Given the description of an element on the screen output the (x, y) to click on. 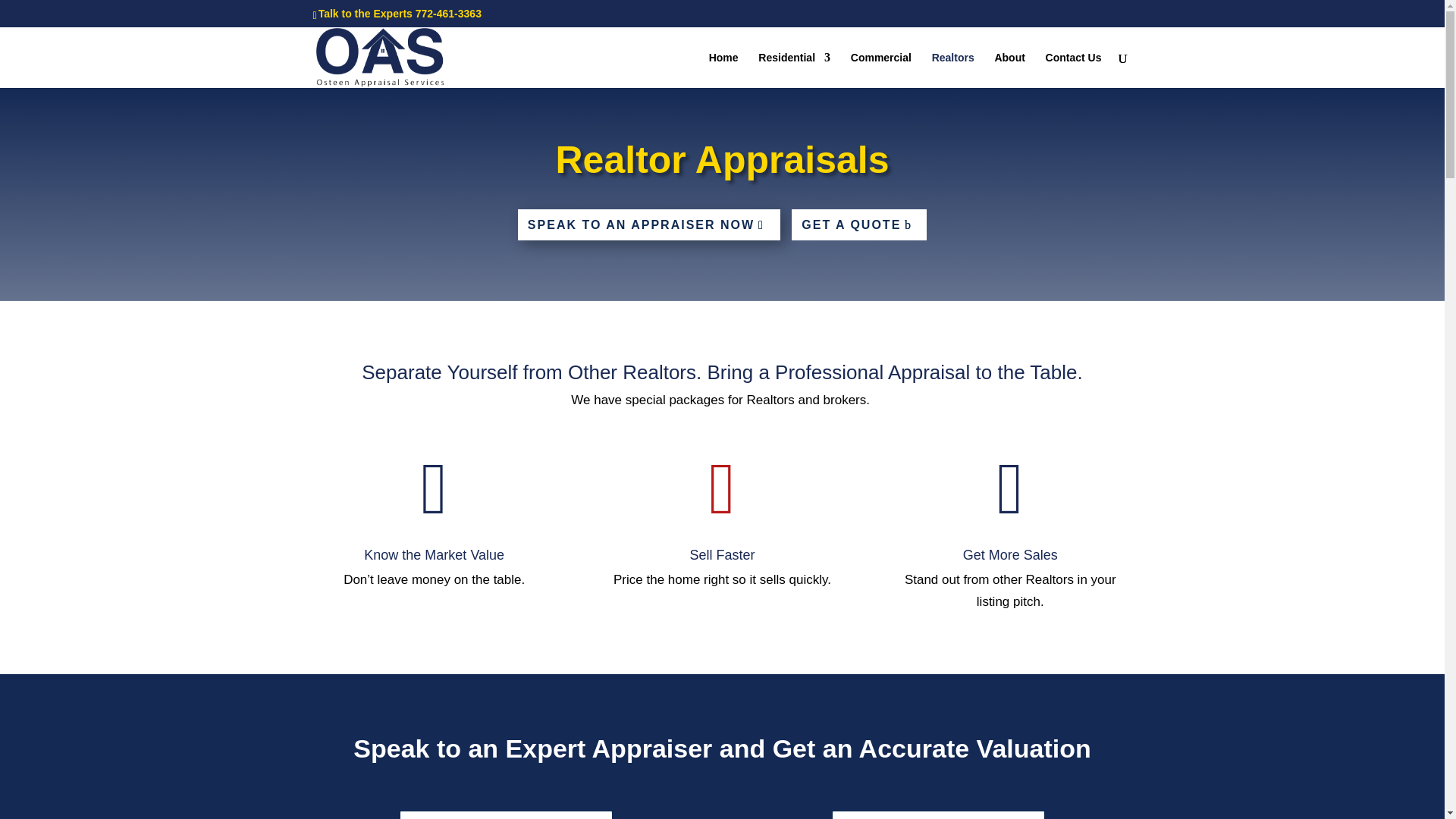
GET A QUOTE (859, 224)
Home (723, 69)
Contact Us (1073, 69)
About (1009, 69)
SPEAK TO AN APPRAISER NOW (649, 224)
GET A FREE QUOTE (505, 814)
GET A FREE QUOTE (938, 814)
Commercial (880, 69)
Realtors (952, 69)
Residential (793, 69)
